Given the description of an element on the screen output the (x, y) to click on. 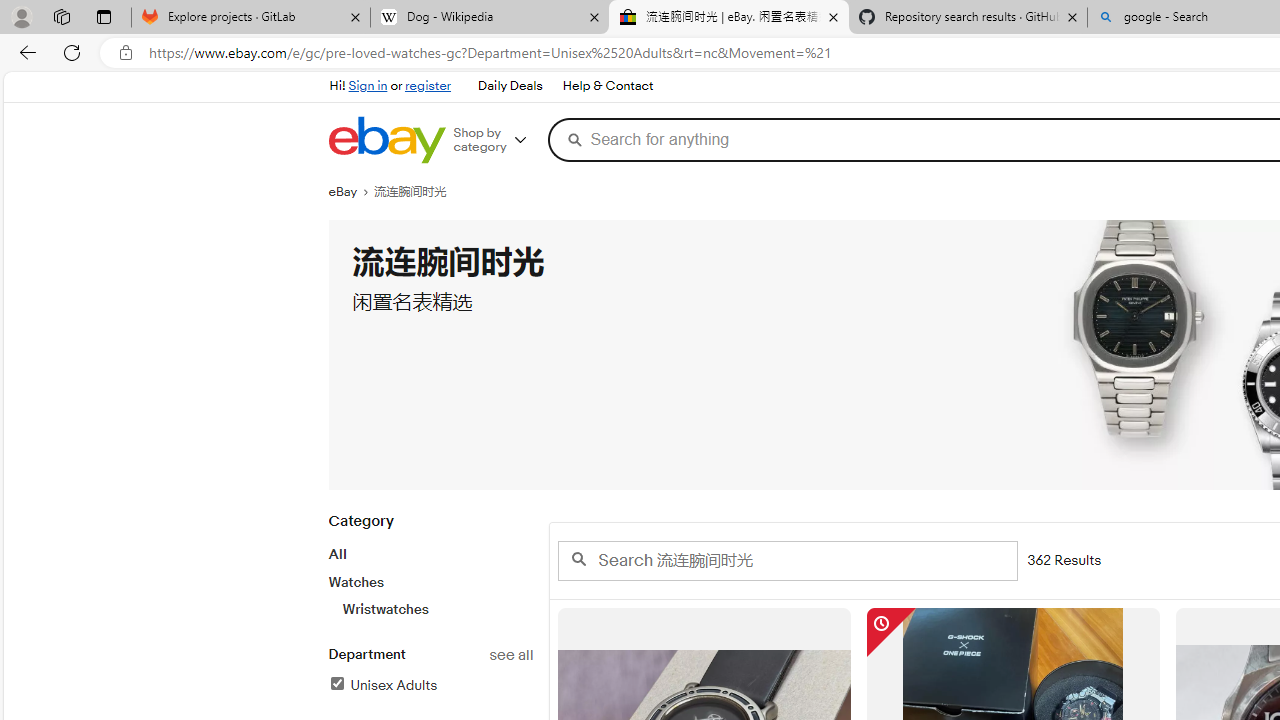
CategoryAllWatchesWristwatches (430, 576)
eBay Home (386, 139)
Help & Contact (607, 86)
WatchesWristwatches (430, 595)
Unisex AdultsFilter Applied (430, 686)
eBay Home (386, 139)
Daily Deals (509, 86)
All (336, 554)
Enter your search keyword (786, 560)
Help & Contact (606, 85)
eBay (351, 192)
Dog - Wikipedia (490, 17)
Departmentsee allUnisex AdultsFilter Applied (430, 681)
